Given the description of an element on the screen output the (x, y) to click on. 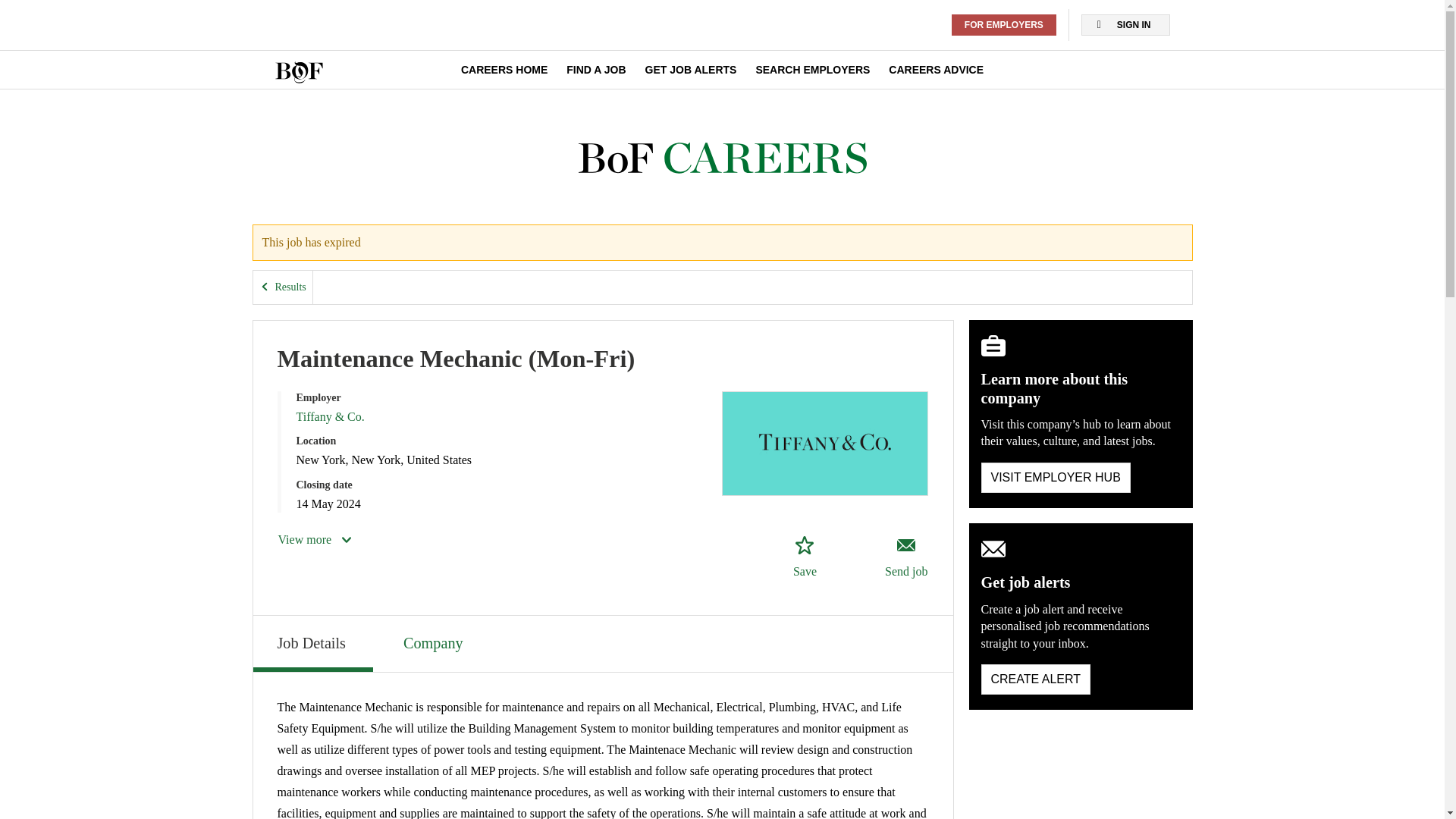
CAREERS HOME (504, 69)
VISIT EMPLOYER HUB (1056, 477)
SEARCH EMPLOYERS (812, 69)
Results (283, 287)
BoF Careers (722, 158)
GET JOB ALERTS (690, 69)
Company (434, 641)
CAREERS ADVICE (936, 69)
FIND A JOB (596, 69)
SIGN IN (1125, 25)
